Given the description of an element on the screen output the (x, y) to click on. 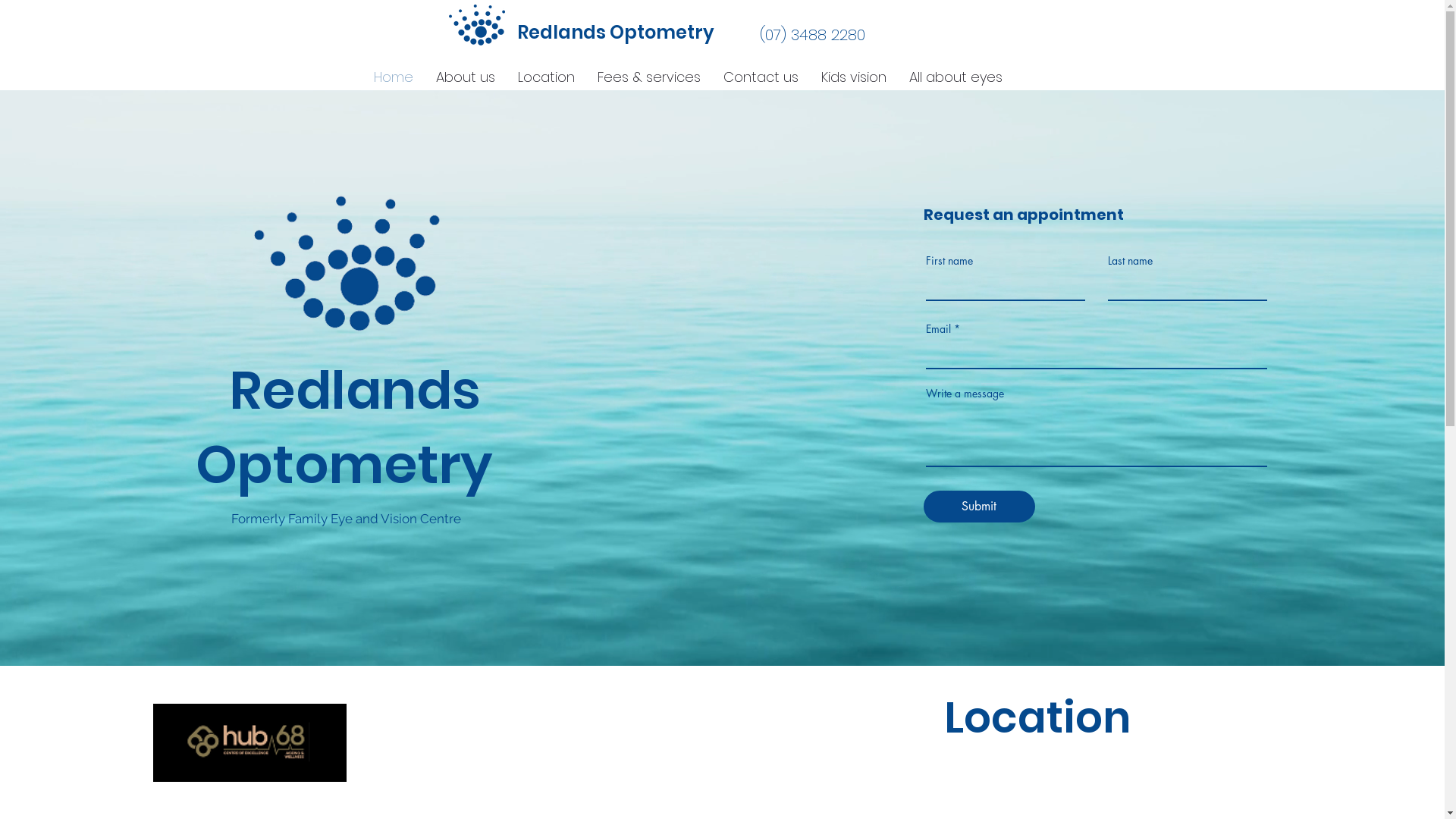
Fees & services Element type: text (648, 77)
FECV Logo.png Element type: hover (476, 24)
Home Element type: text (393, 77)
All about eyes Element type: text (955, 77)
About us Element type: text (465, 77)
Location Element type: text (546, 77)
Contact us Element type: text (760, 77)
Kids vision Element type: text (853, 77)
Submit Element type: text (979, 506)
